Given the description of an element on the screen output the (x, y) to click on. 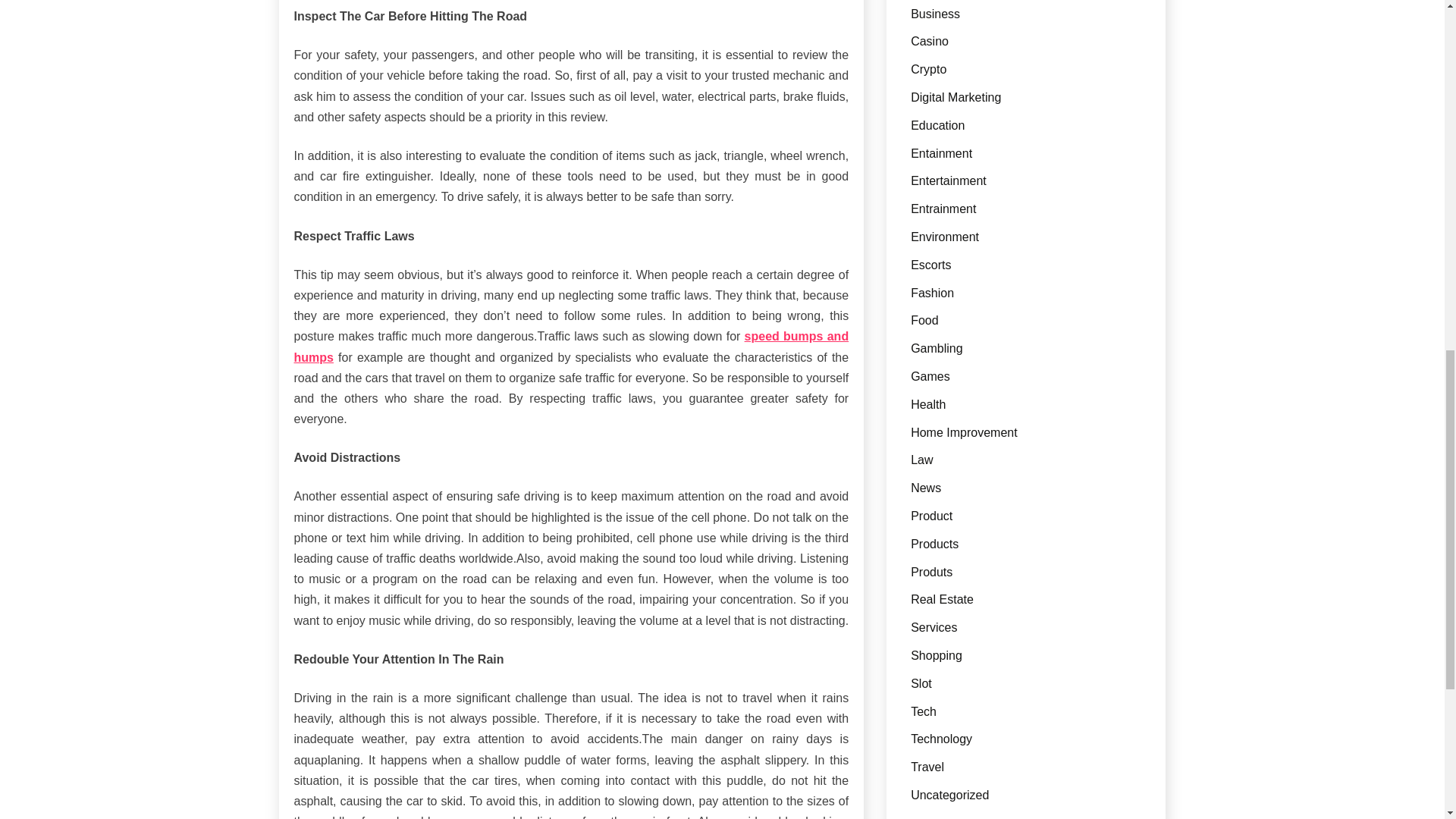
Business (935, 13)
Escorts (930, 264)
Food (924, 319)
Entrainment (943, 208)
Games (930, 376)
Entertainment (949, 180)
Crypto (928, 69)
Casino (930, 41)
Entainment (941, 153)
Digital Marketing (956, 97)
